Given the description of an element on the screen output the (x, y) to click on. 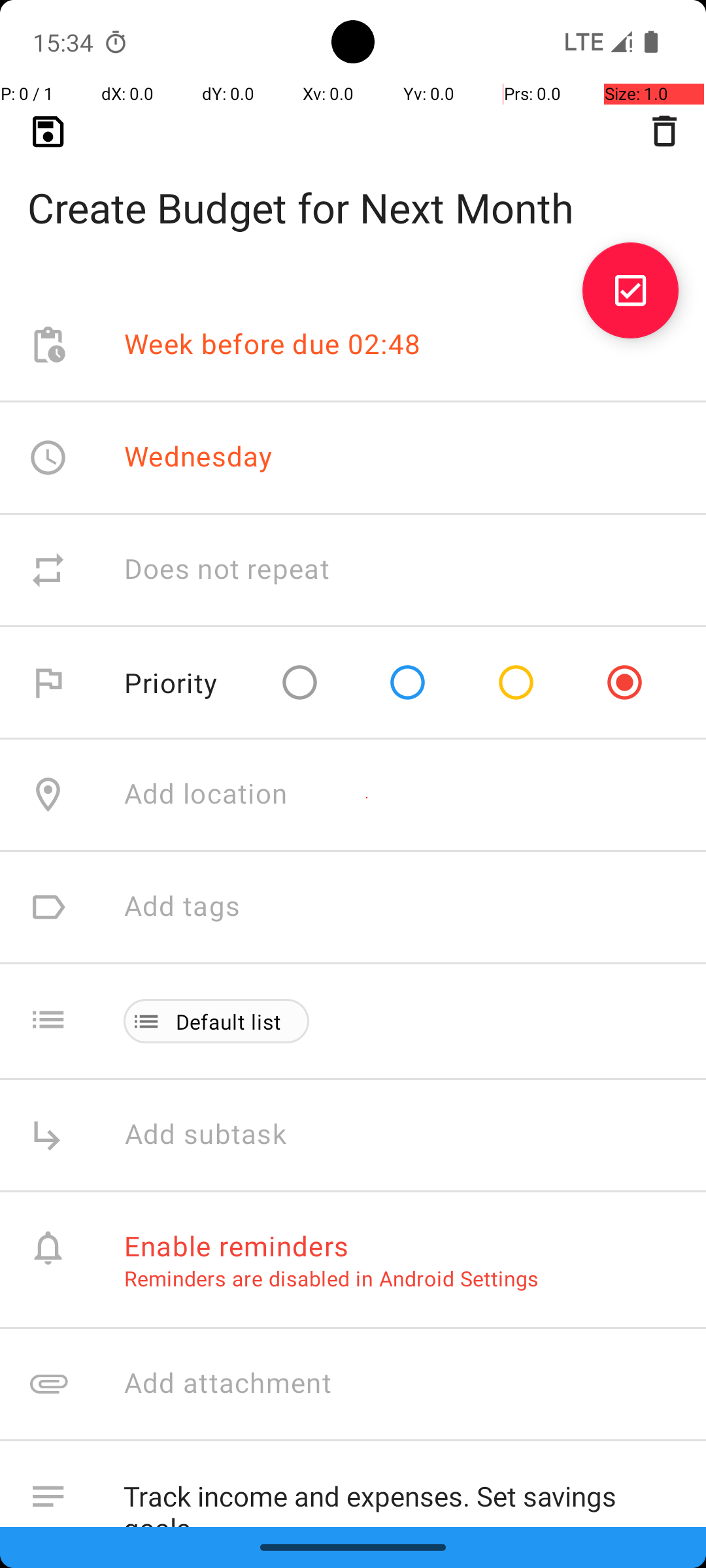
Track income and expenses. Set savings goals. Element type: android.widget.EditText (400, 1493)
Week before due 02:48 Element type: android.widget.TextView (272, 344)
